Given the description of an element on the screen output the (x, y) to click on. 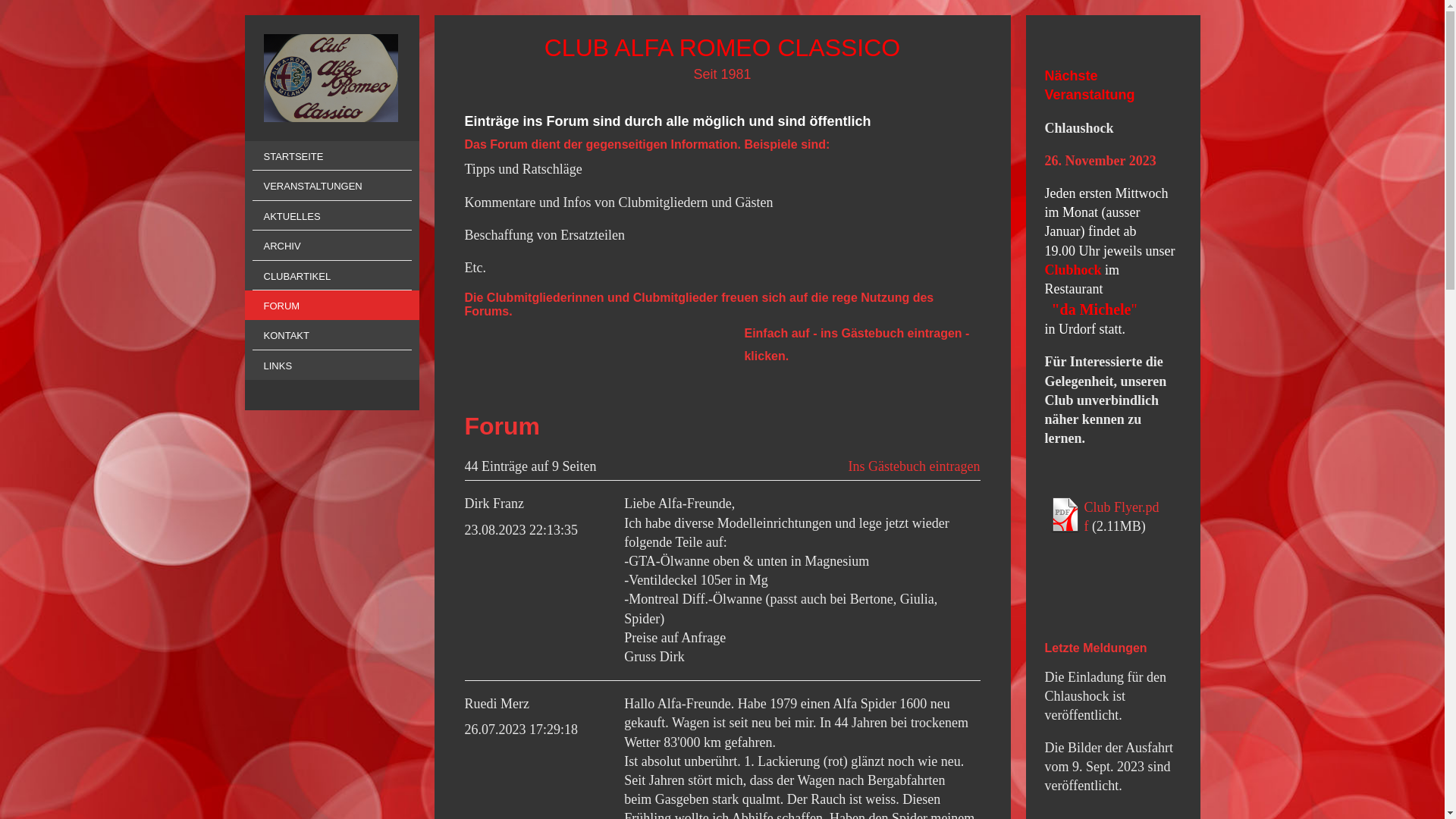
AKTUELLES Element type: text (331, 215)
Club Flyer.pdf Element type: text (1121, 516)
FORUM Element type: text (331, 305)
CLUBARTIKEL Element type: text (331, 275)
LINKS Element type: text (331, 364)
VERANSTALTUNGEN Element type: text (331, 185)
STARTSEITE Element type: text (331, 155)
KONTAKT Element type: text (331, 334)
ARCHIV Element type: text (331, 245)
